Given the description of an element on the screen output the (x, y) to click on. 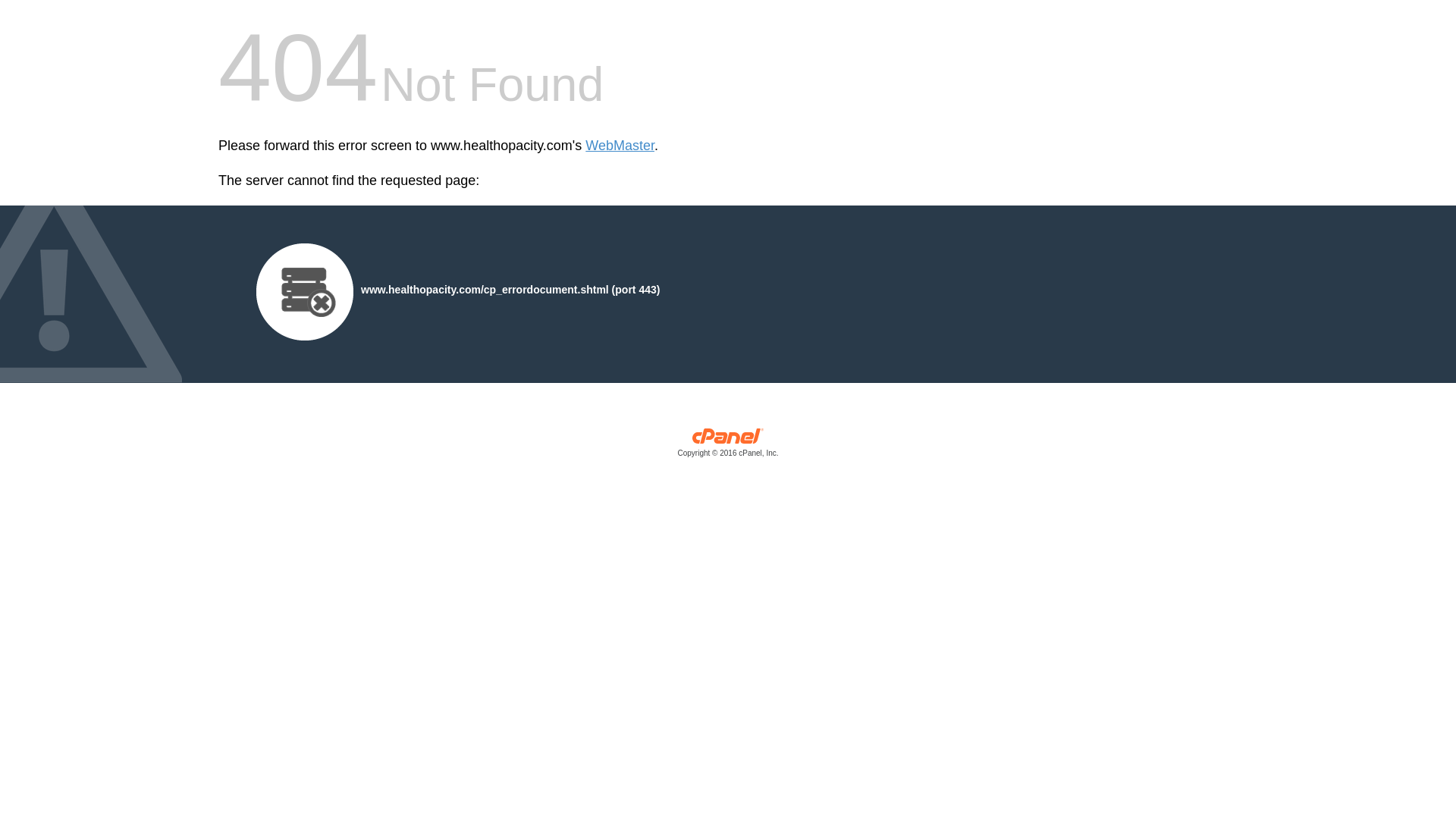
cPanel, Inc. (727, 446)
WebMaster (619, 145)
